Given the description of an element on the screen output the (x, y) to click on. 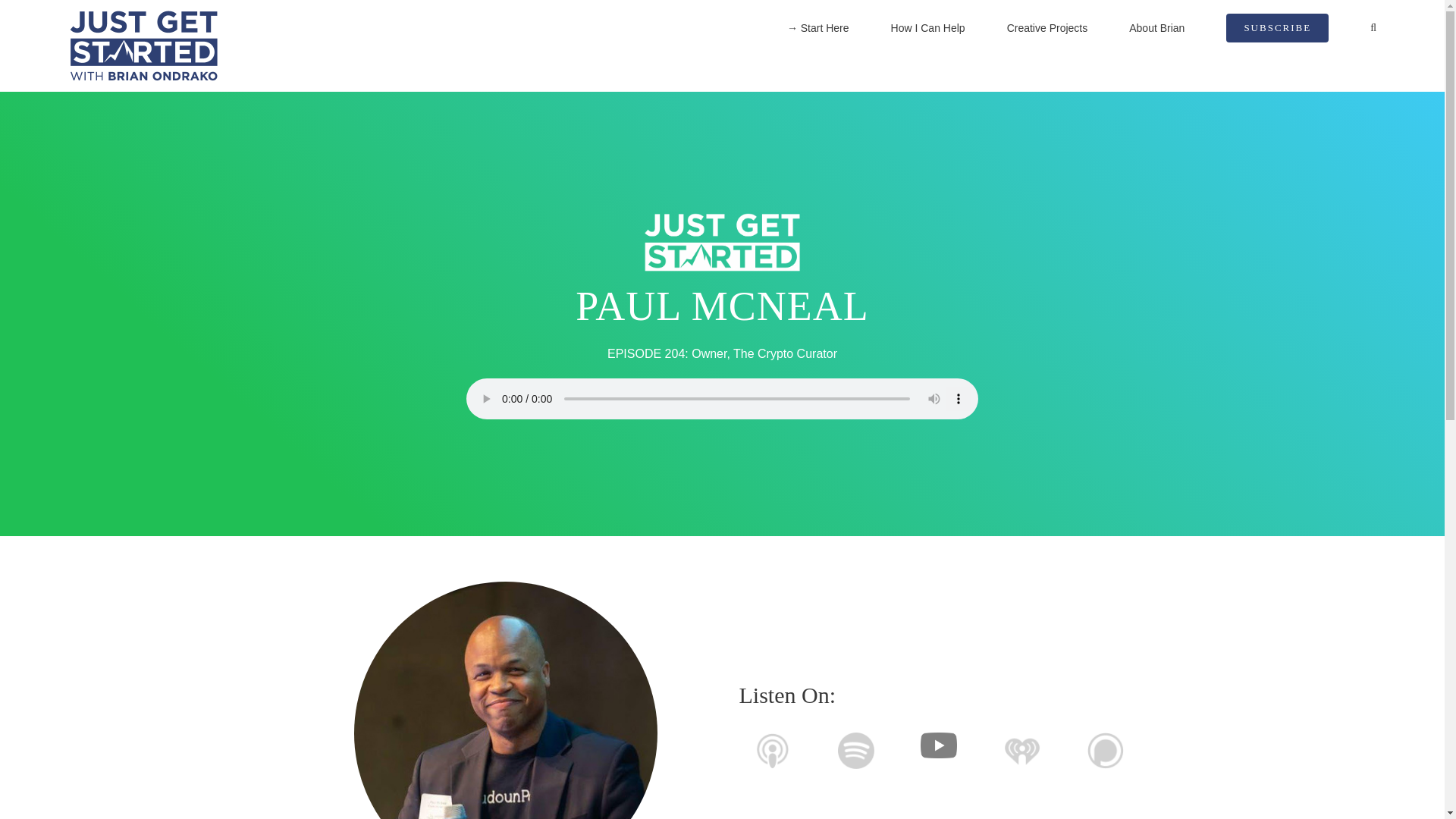
Paul McNeal (504, 700)
Creative Projects (1047, 28)
About Brian (1157, 28)
SUBSCRIBE (1276, 28)
How I Can Help (928, 28)
